Given the description of an element on the screen output the (x, y) to click on. 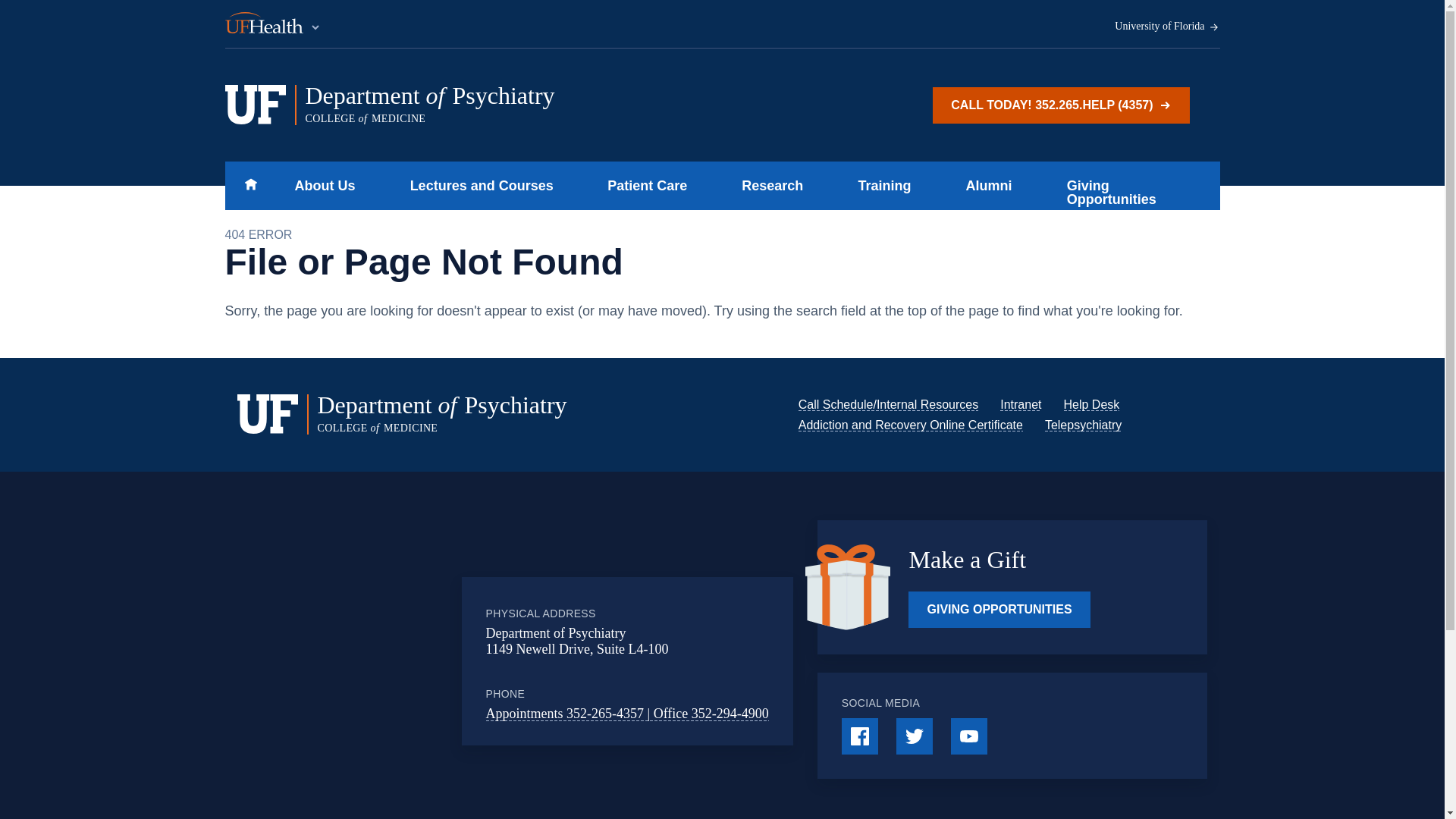
Google Maps Embed (396, 660)
Intranet (1020, 404)
Telepsychiatry (1083, 424)
Help Desk (1090, 404)
University of Florida (1167, 26)
About Us (320, 185)
Home (250, 185)
Addiction and Recovery Online Certificate (910, 424)
UF Health (272, 24)
Lectures and Courses (515, 105)
